Given the description of an element on the screen output the (x, y) to click on. 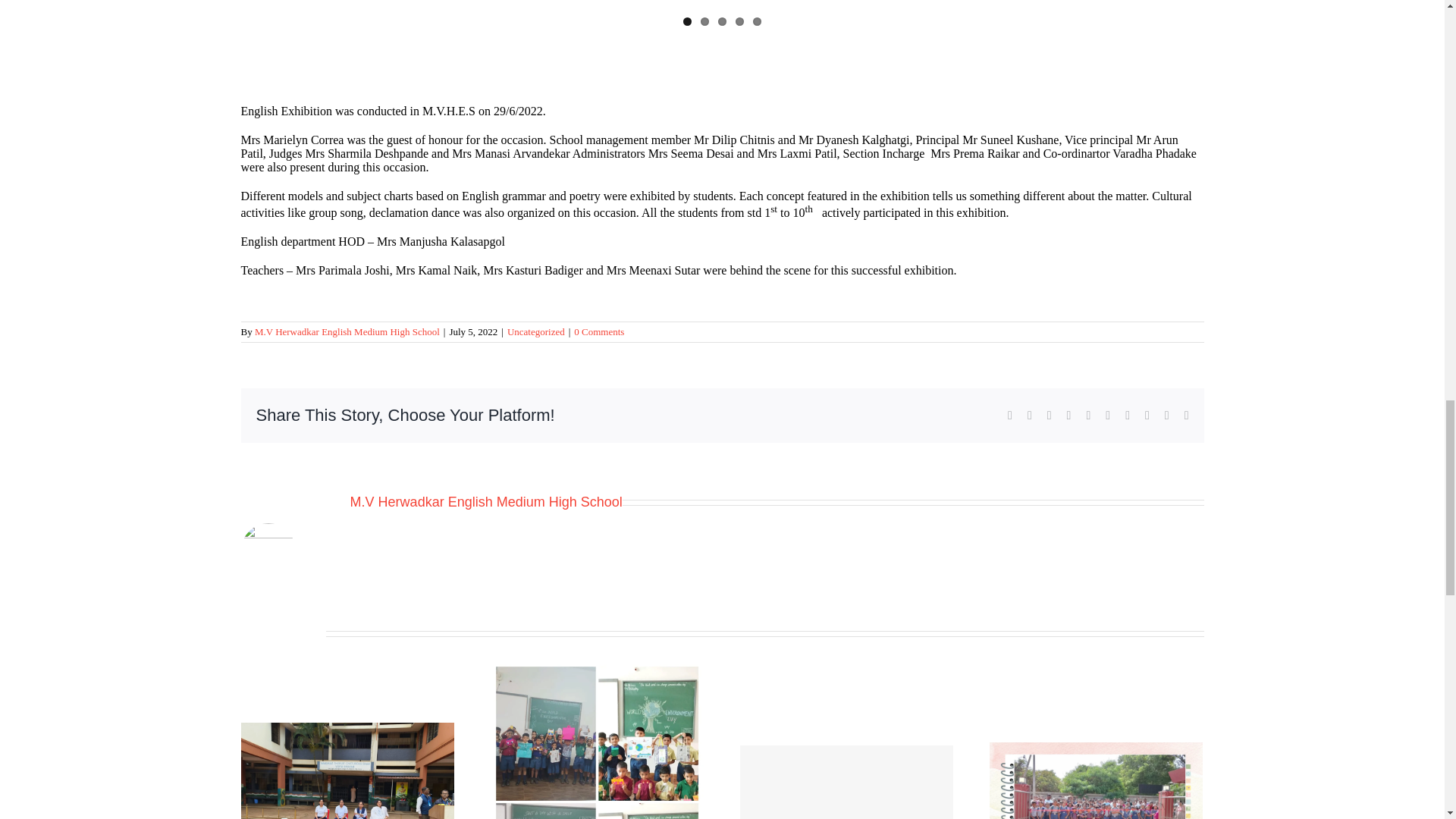
Uncategorized (535, 331)
M.V Herwadkar English Medium High School (346, 331)
2 (704, 20)
1 (686, 20)
Posts by M.V Herwadkar English Medium High School (346, 331)
4 (739, 20)
5 (756, 20)
3 (721, 20)
